Given the description of an element on the screen output the (x, y) to click on. 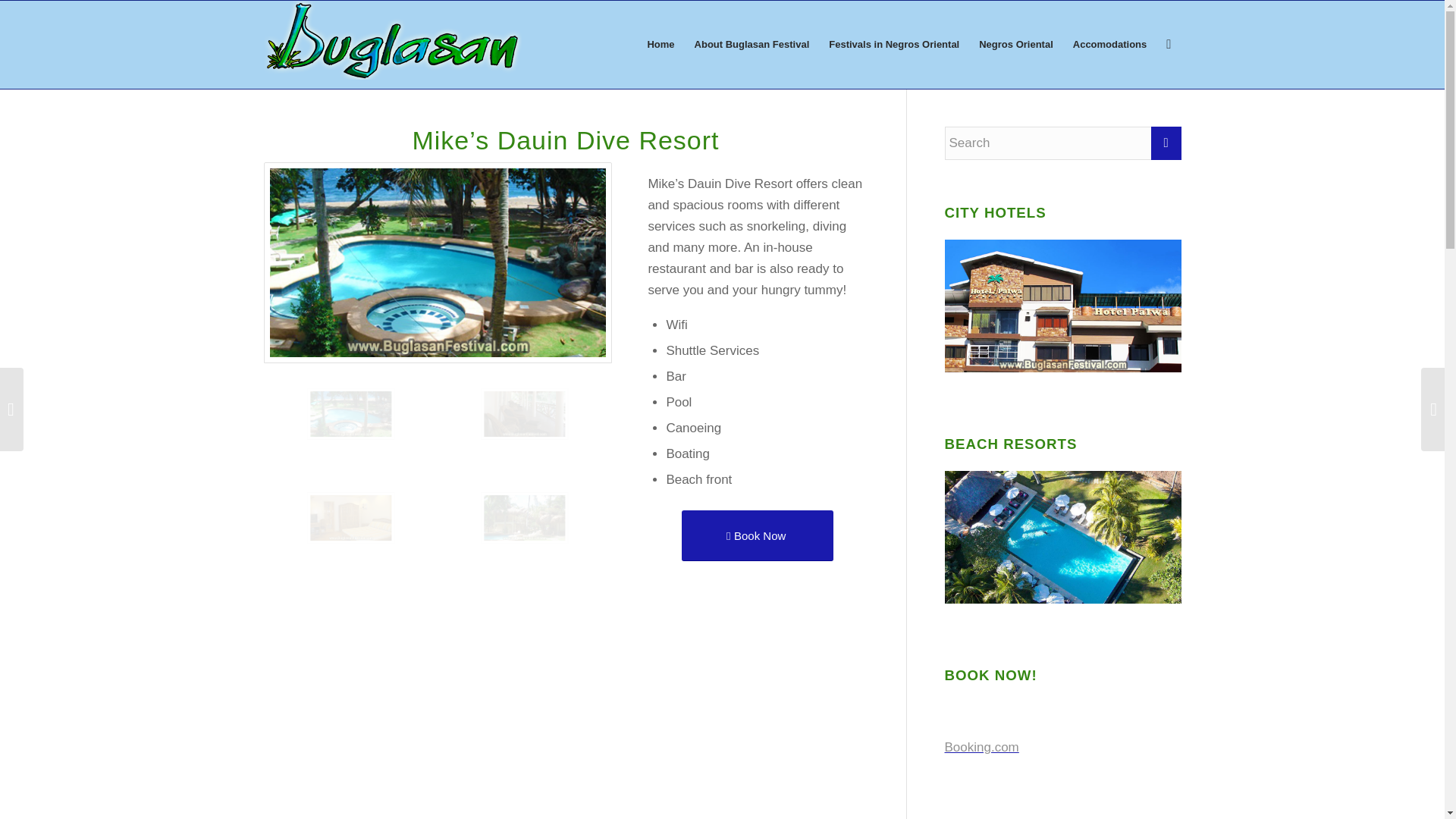
Mike's Dauin Dive Resort Pool (437, 262)
Festivals in Negros Oriental (893, 44)
Book Now (756, 535)
Negros Oriental (1015, 44)
Mike's Dauin Dive Resort - balcony view (567, 439)
Mike's Dauin Dive Resort Pool (394, 439)
Mike's Dauin Dive Resort (524, 517)
Accomodations (1109, 44)
Mike's Dauin Dive Resort (567, 543)
About Buglasan Festival (751, 44)
